Given the description of an element on the screen output the (x, y) to click on. 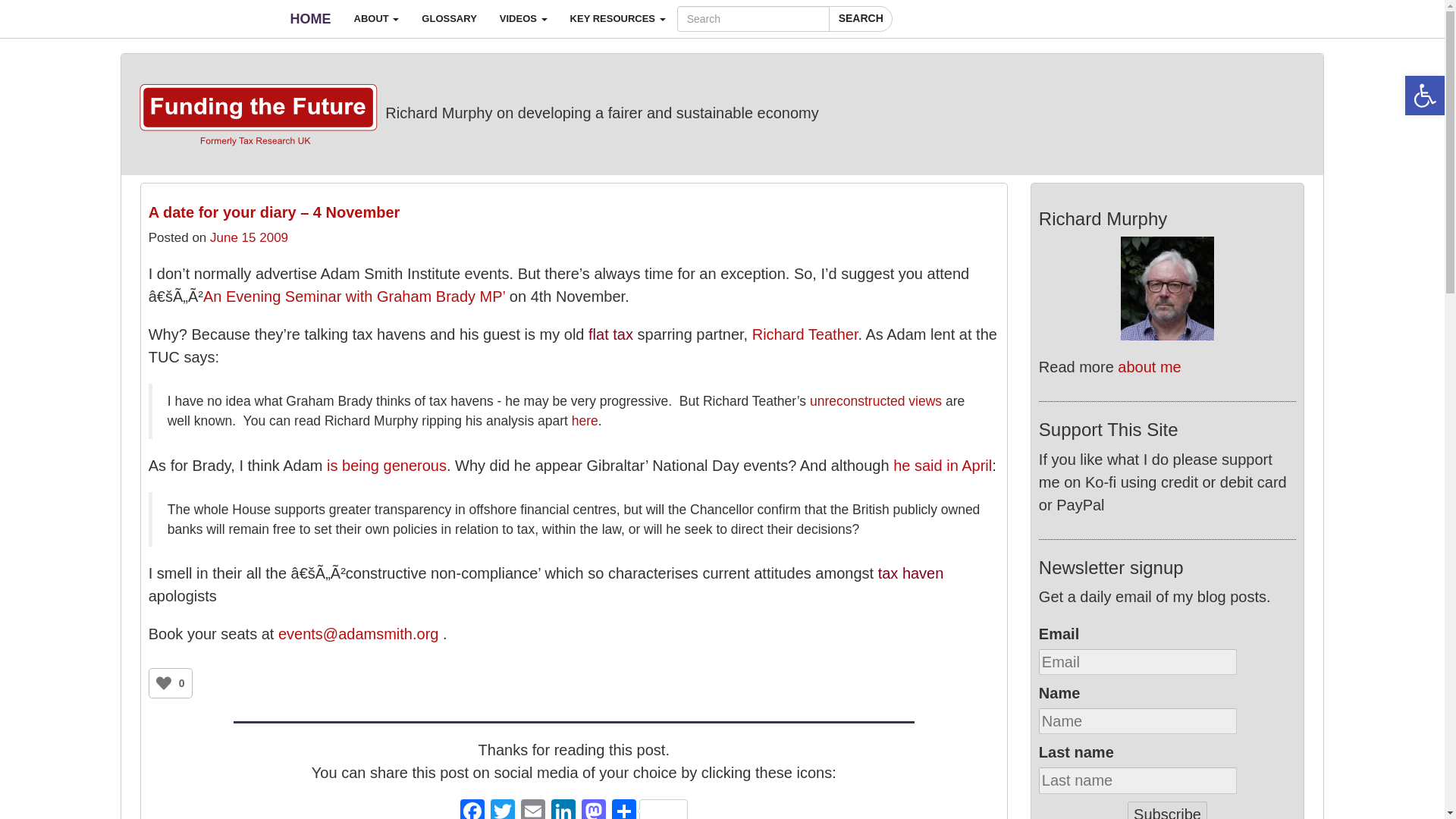
Glossary (448, 18)
Accessibility Tools (1424, 95)
Richard Teather (805, 334)
ABOUT (376, 18)
HOME (310, 18)
Subscribe (1166, 810)
HOME (310, 18)
June 15 2009 (248, 237)
KEY RESOURCES (618, 18)
Search (860, 18)
VIDEOS (523, 18)
here (585, 420)
Videos (523, 18)
GLOSSARY (448, 18)
unreconstructed views (876, 400)
